Given the description of an element on the screen output the (x, y) to click on. 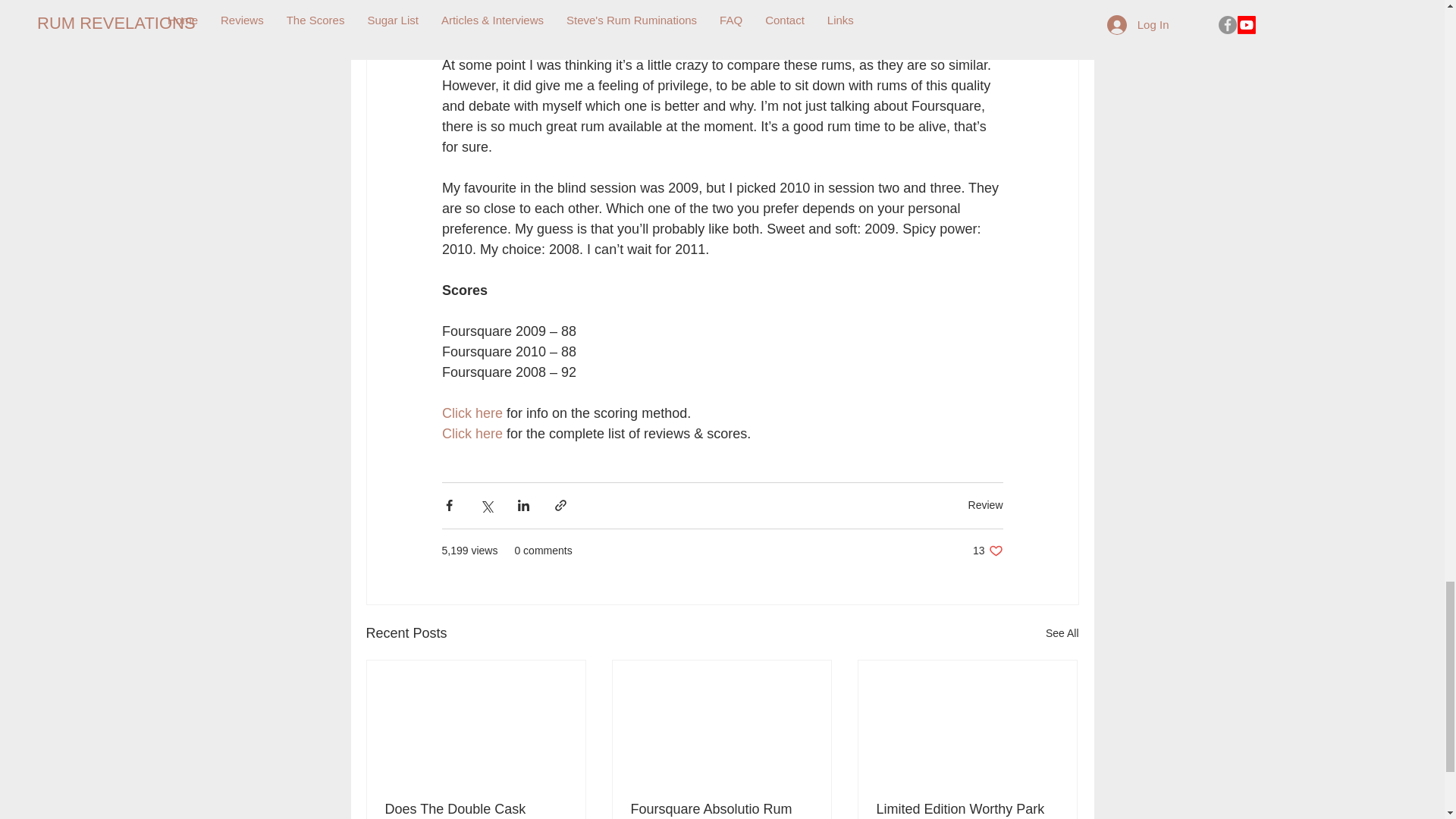
Click here (471, 433)
See All (1061, 633)
Review (985, 504)
Does The Double Cask Improve Appleton 8? (476, 810)
Click here (987, 550)
Foursquare Absolutio Rum Review (471, 412)
